Given the description of an element on the screen output the (x, y) to click on. 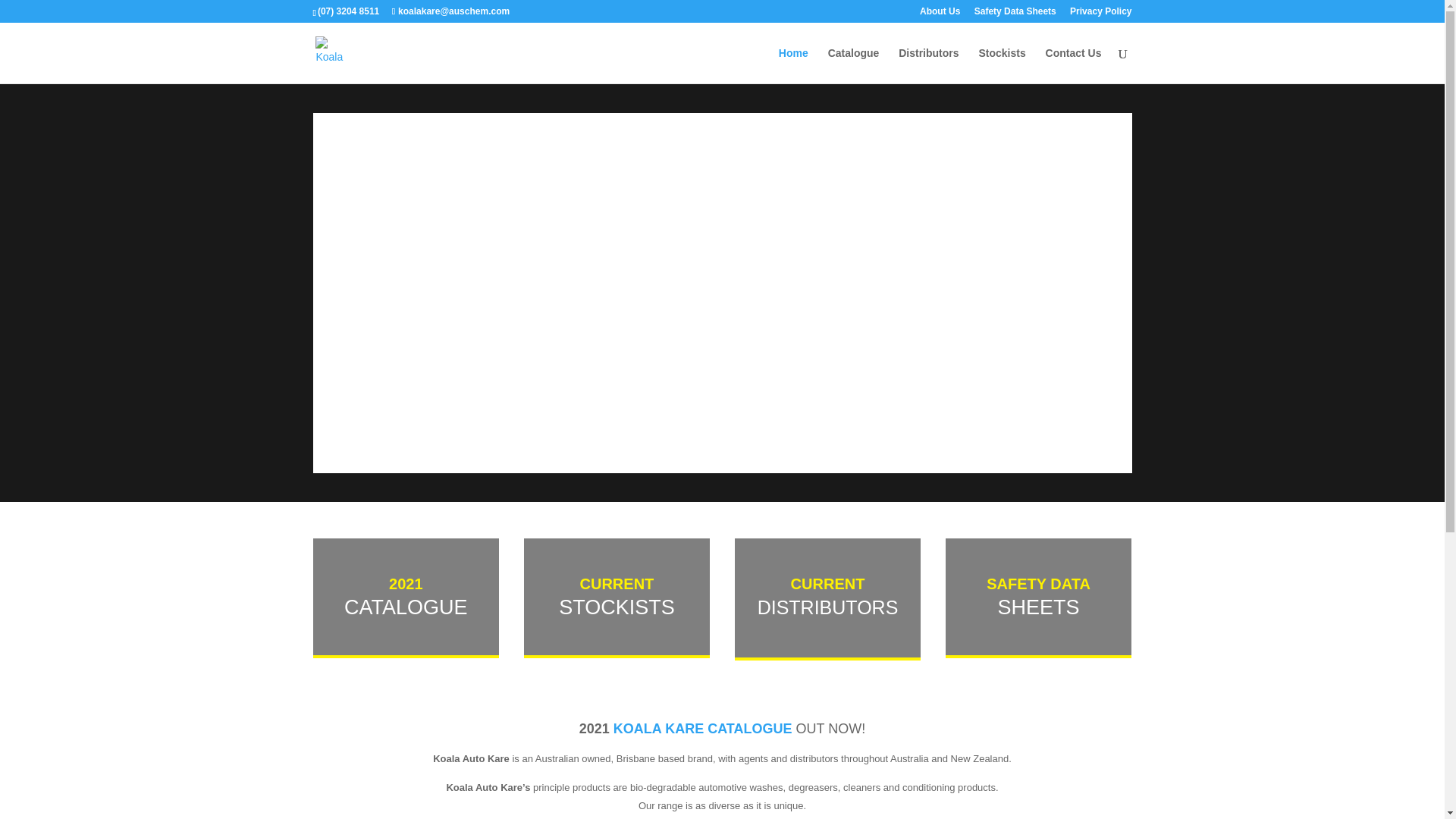
2021 Element type: text (406, 583)
Home Element type: text (793, 65)
Privacy Policy Element type: text (1100, 14)
Stockists Element type: text (1001, 65)
Safety Data Sheets Element type: text (1015, 14)
KOALA KARE CATALOGUE Element type: text (704, 728)
Catalogue Element type: text (853, 65)
CURRENT Element type: text (827, 583)
SAFETY DATA Element type: text (1038, 583)
About Us Element type: text (939, 14)
Distributors Element type: text (928, 65)
CURRENT Element type: text (617, 583)
koalakare@auschem.com Element type: text (451, 11)
Contact Us Element type: text (1073, 65)
